Given the description of an element on the screen output the (x, y) to click on. 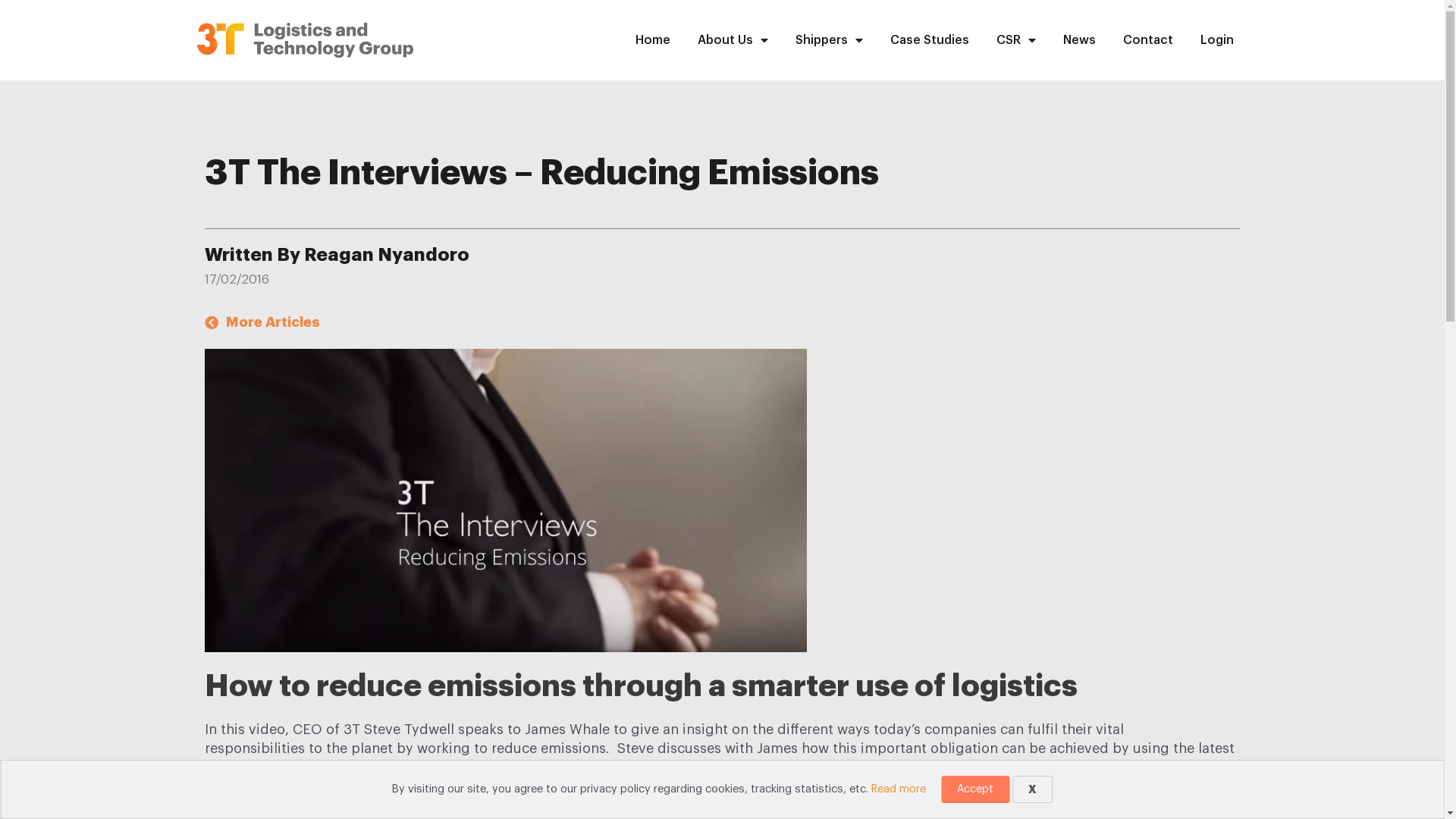
Login Element type: text (1216, 39)
Case Studies Element type: text (929, 39)
CSR Element type: text (1015, 39)
About Us Element type: text (732, 39)
X Element type: text (1032, 789)
Accept Element type: text (975, 789)
News Element type: text (1079, 39)
Read more Element type: text (898, 788)
Home Element type: text (652, 39)
Contact Element type: text (1147, 39)
Shippers Element type: text (828, 39)
More Articles Element type: text (262, 322)
